Given the description of an element on the screen output the (x, y) to click on. 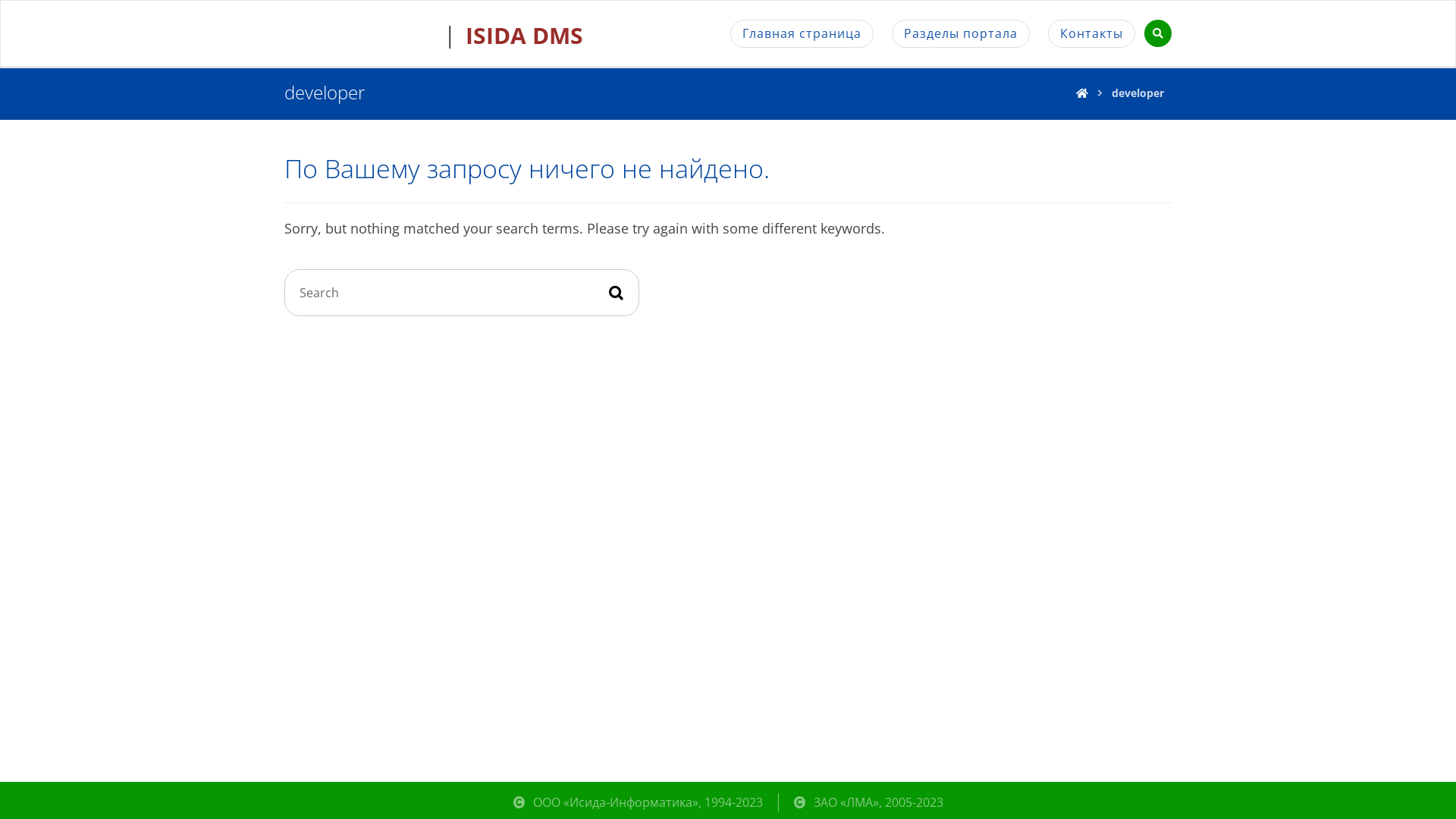
ISIDA DMS Element type: text (516, 26)
developer Element type: text (1137, 92)
Home page Element type: hover (1082, 92)
